Given the description of an element on the screen output the (x, y) to click on. 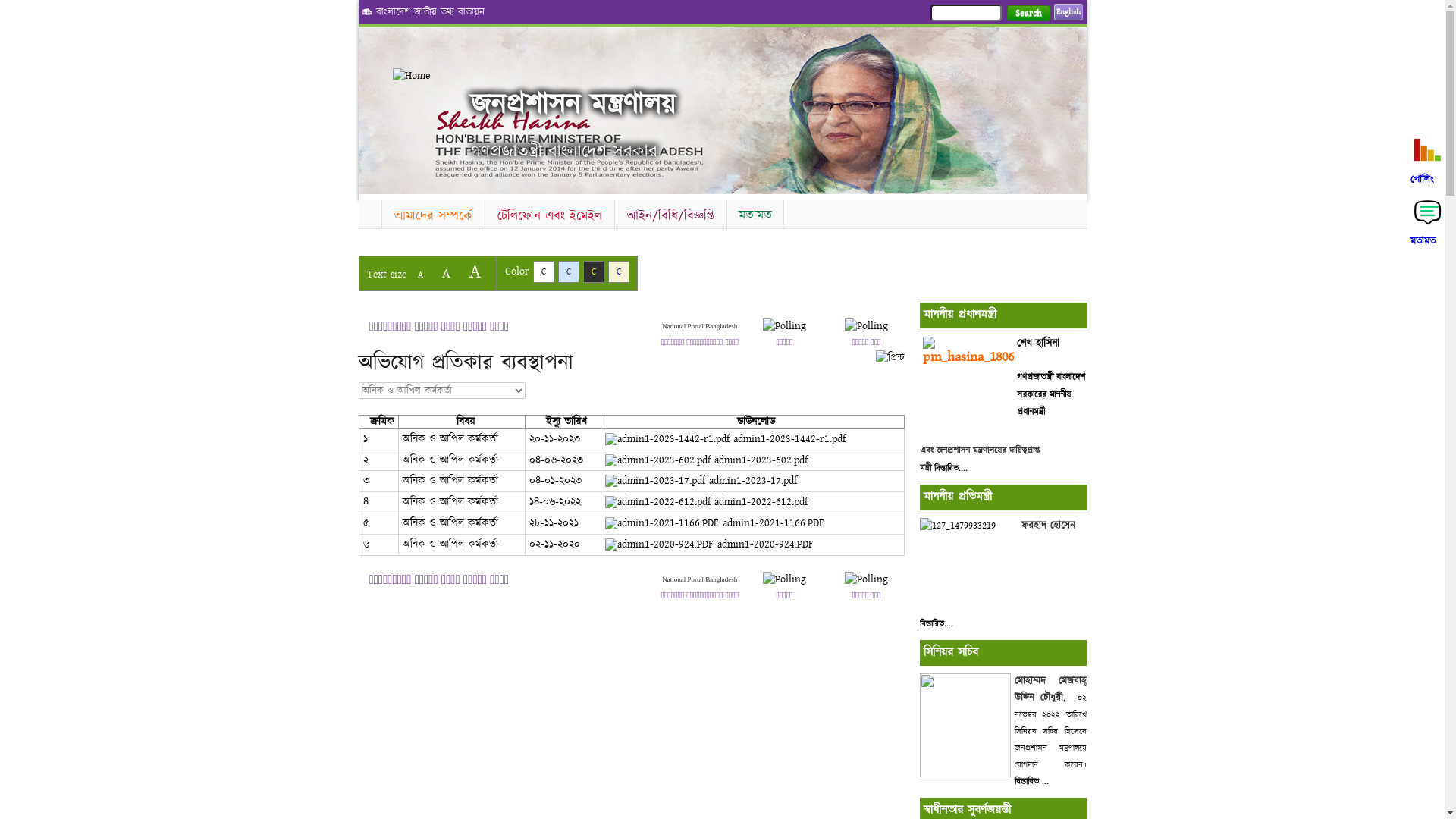
Home Element type: hover (431, 76)
C Element type: text (618, 271)
A Element type: text (445, 273)
admin1-2021-1166.PDF Element type: text (714, 522)
C Element type: text (568, 271)
admin1-2023-17.pdf Element type: text (701, 480)
Search Element type: text (1028, 13)
admin1-2023-602.pdf Element type: text (706, 459)
admin1-2020-924.PDF Element type: text (709, 544)
C Element type: text (542, 271)
Home Element type: hover (368, 211)
admin1-2023-1442-r1.pdf Element type: text (725, 438)
A Element type: text (474, 271)
A Element type: text (419, 274)
admin1-2022-612.pdf Element type: text (706, 501)
C Element type: text (592, 271)
English Element type: text (1068, 11)
